Given the description of an element on the screen output the (x, y) to click on. 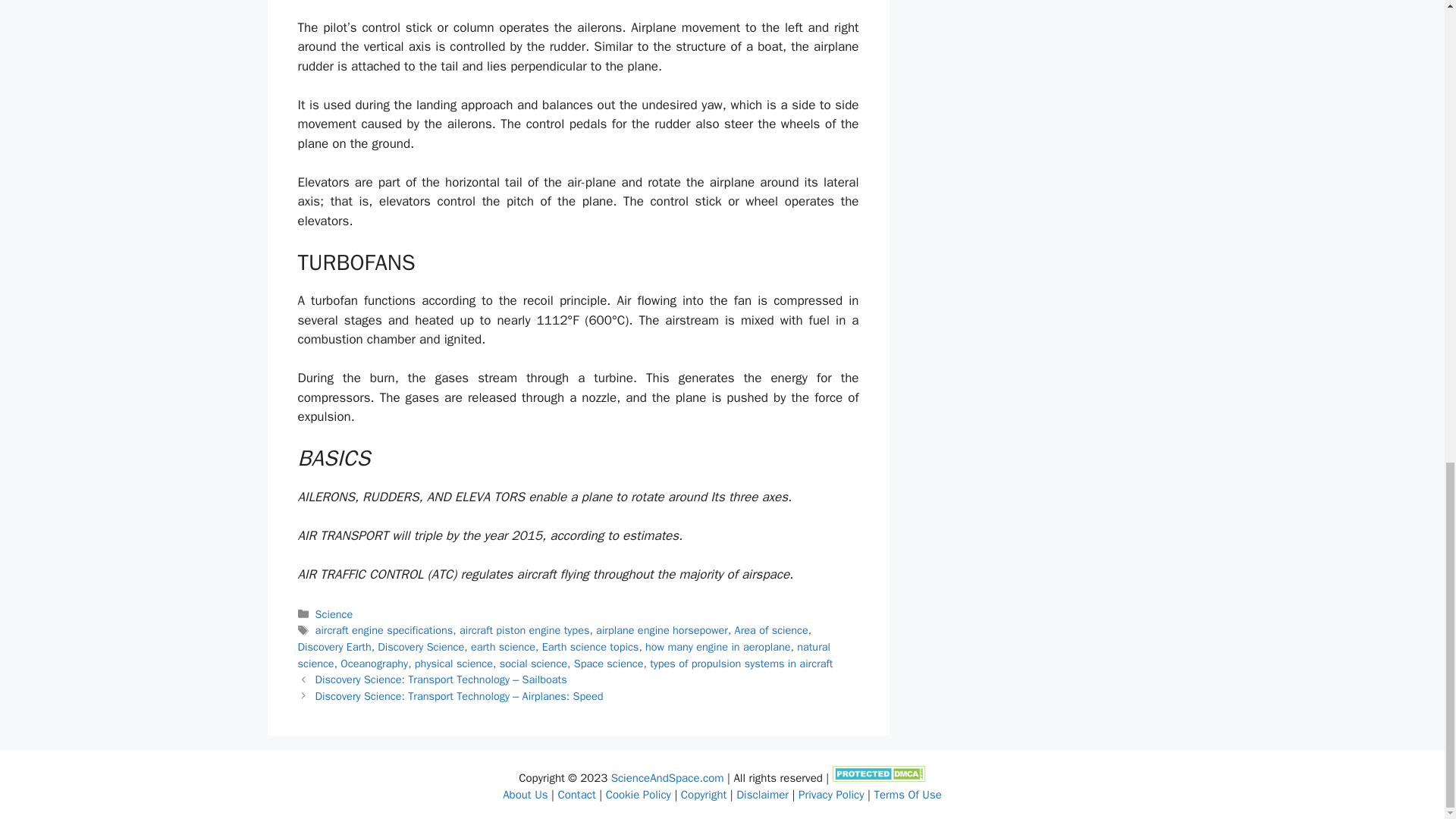
Contact (576, 794)
DMCA.com Protection Status (879, 777)
Earth science topics (590, 646)
ScienceAndSpace.com (667, 777)
aircraft engine specifications (383, 630)
Space science (608, 663)
how many engine in aeroplane (717, 646)
types of propulsion systems in aircraft (740, 663)
Science (334, 613)
aircraft piston engine types (524, 630)
physical science (453, 663)
natural science (563, 654)
Discovery Science (420, 646)
airplane engine horsepower (661, 630)
earth science (502, 646)
